Given the description of an element on the screen output the (x, y) to click on. 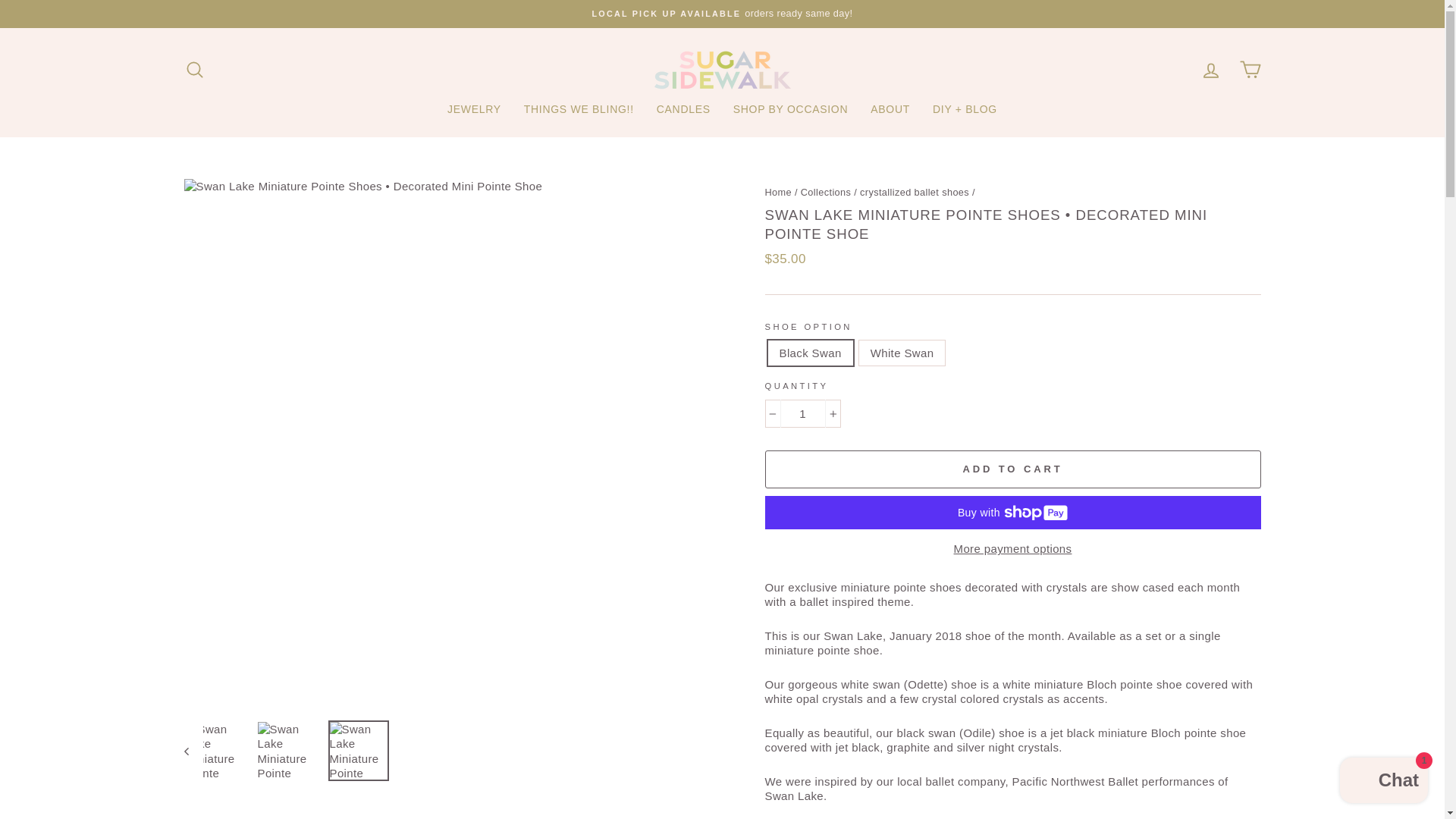
Back to the frontpage (778, 192)
Shopify online store chat (1383, 781)
1 (802, 413)
